Given the description of an element on the screen output the (x, y) to click on. 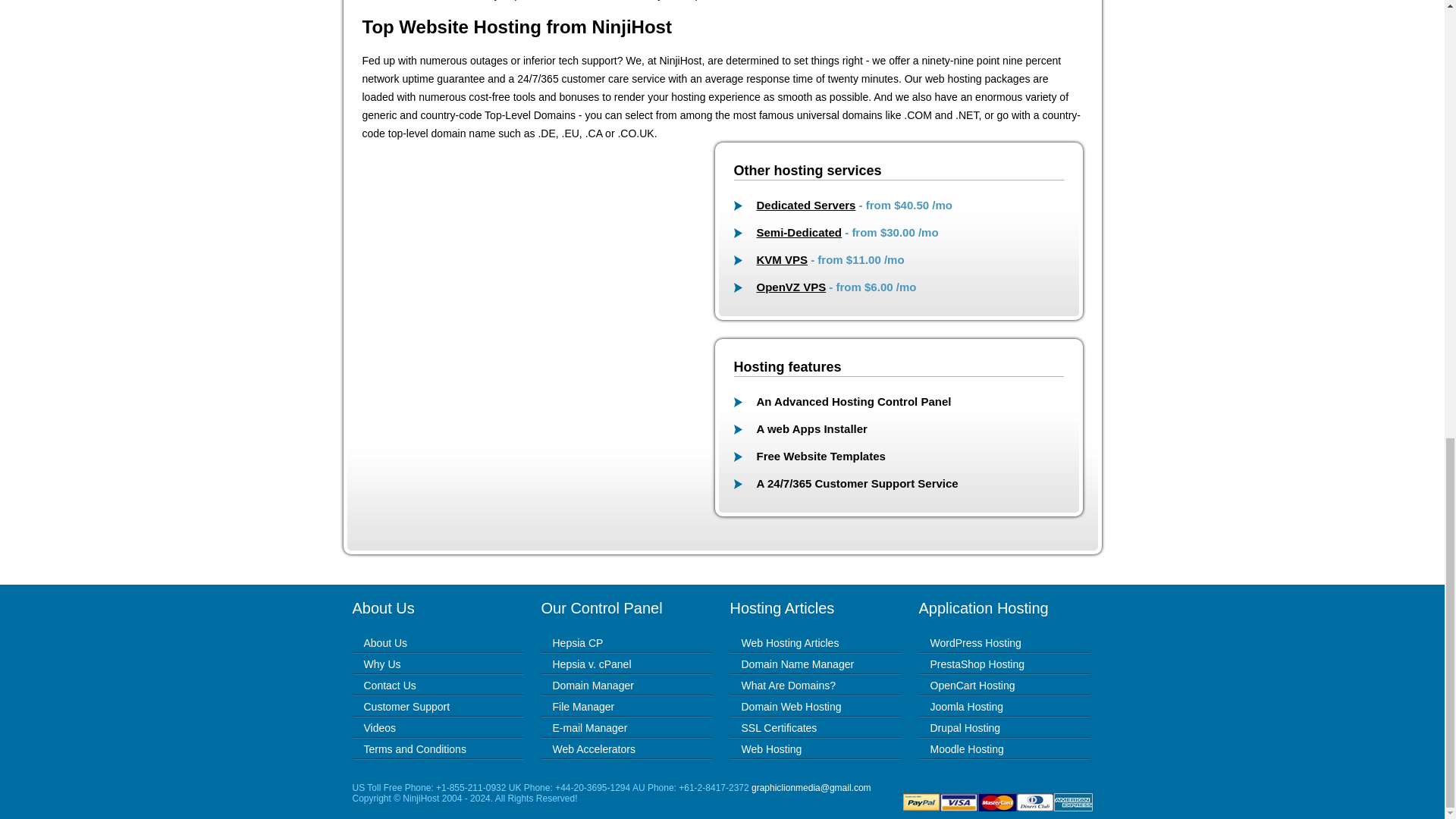
Dedicated Servers (806, 205)
